Given the description of an element on the screen output the (x, y) to click on. 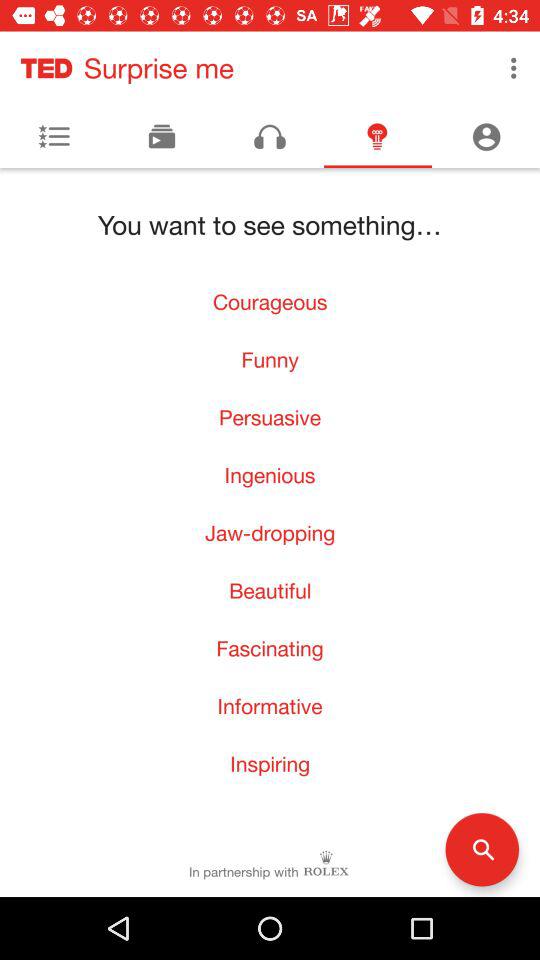
choose the item next to surprise me (513, 67)
